Given the description of an element on the screen output the (x, y) to click on. 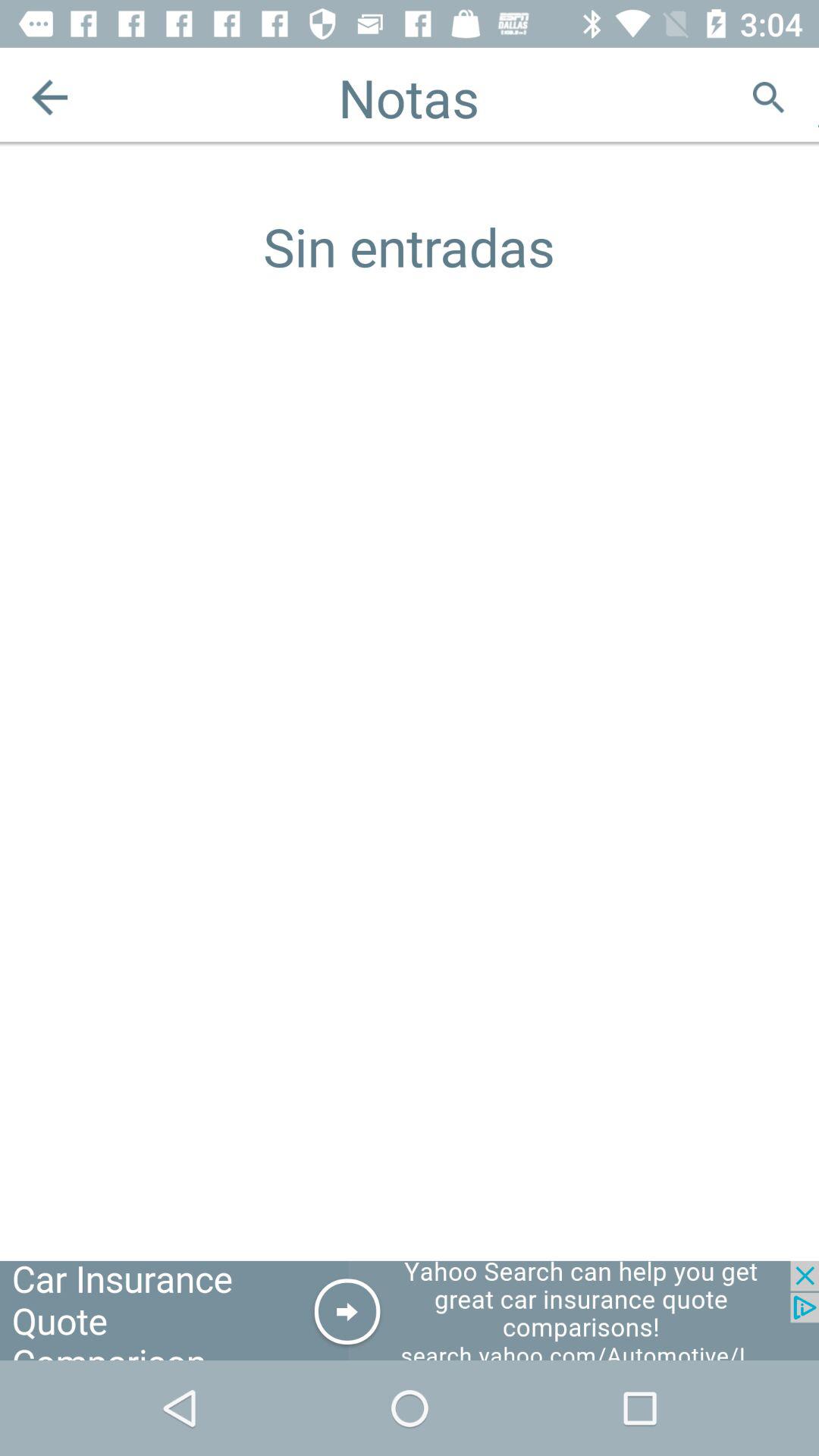
go to previous (49, 97)
